Given the description of an element on the screen output the (x, y) to click on. 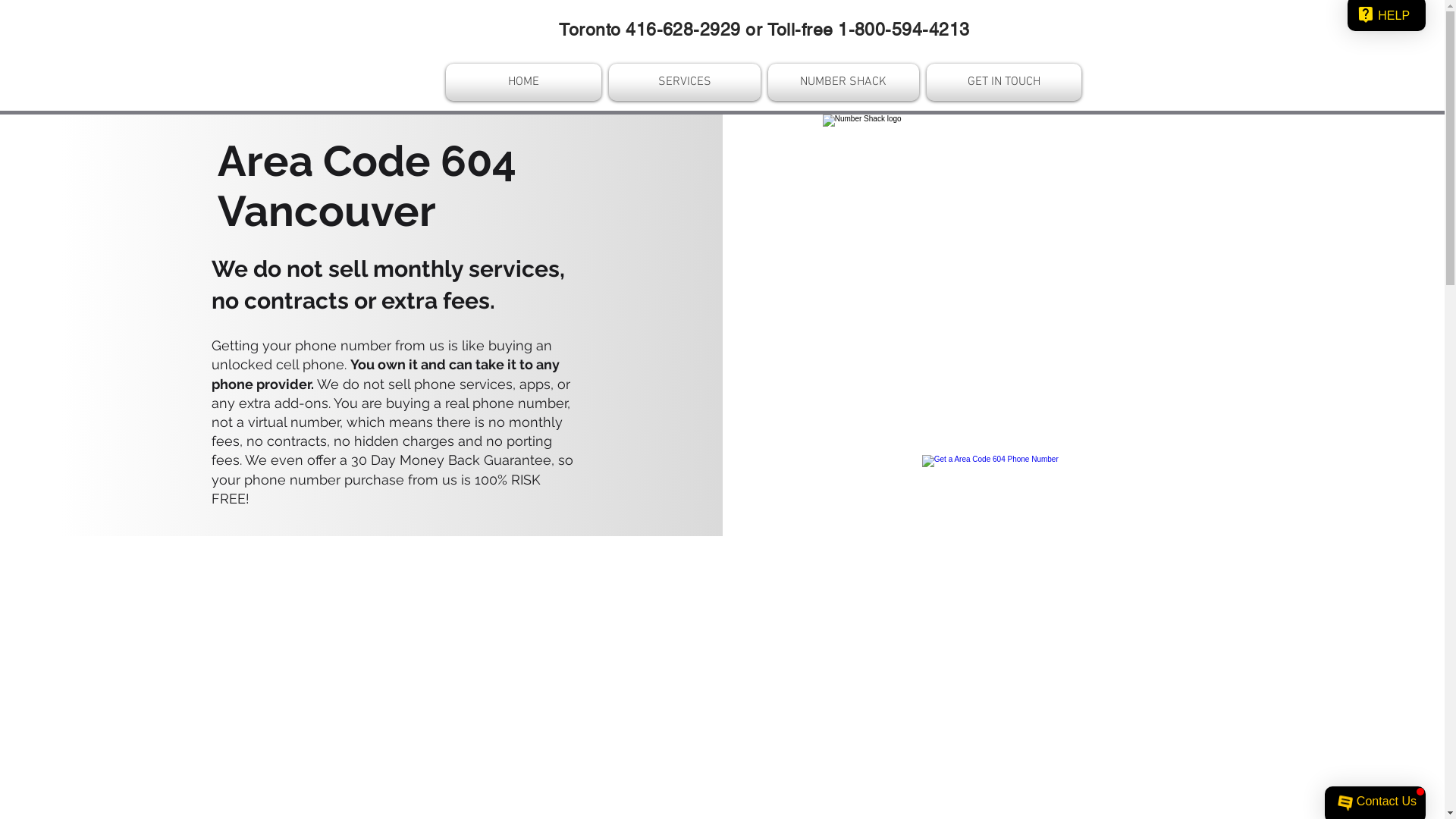
1-800-594-4213 Element type: text (903, 29)
HOME Element type: text (525, 81)
NumberShack.com Your Number is Here Element type: hover (994, 481)
416-628-2929 or  Element type: text (695, 29)
live_help
 HELP
   Element type: text (1386, 15)
